Given the description of an element on the screen output the (x, y) to click on. 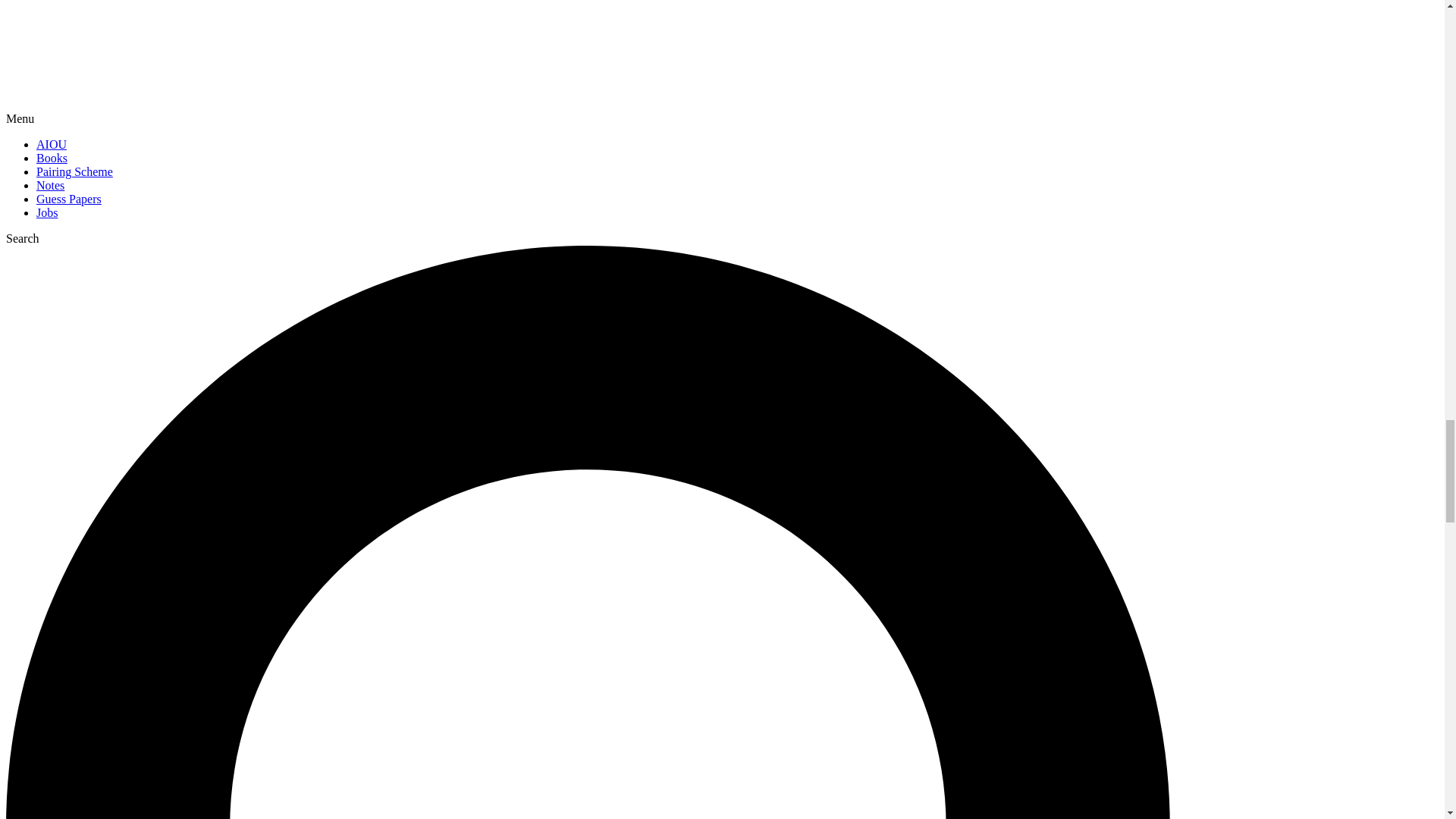
Notes (50, 185)
Jobs (47, 212)
Books (51, 157)
AIOU (51, 144)
Pairing Scheme (74, 171)
Guess Papers (68, 198)
